Given the description of an element on the screen output the (x, y) to click on. 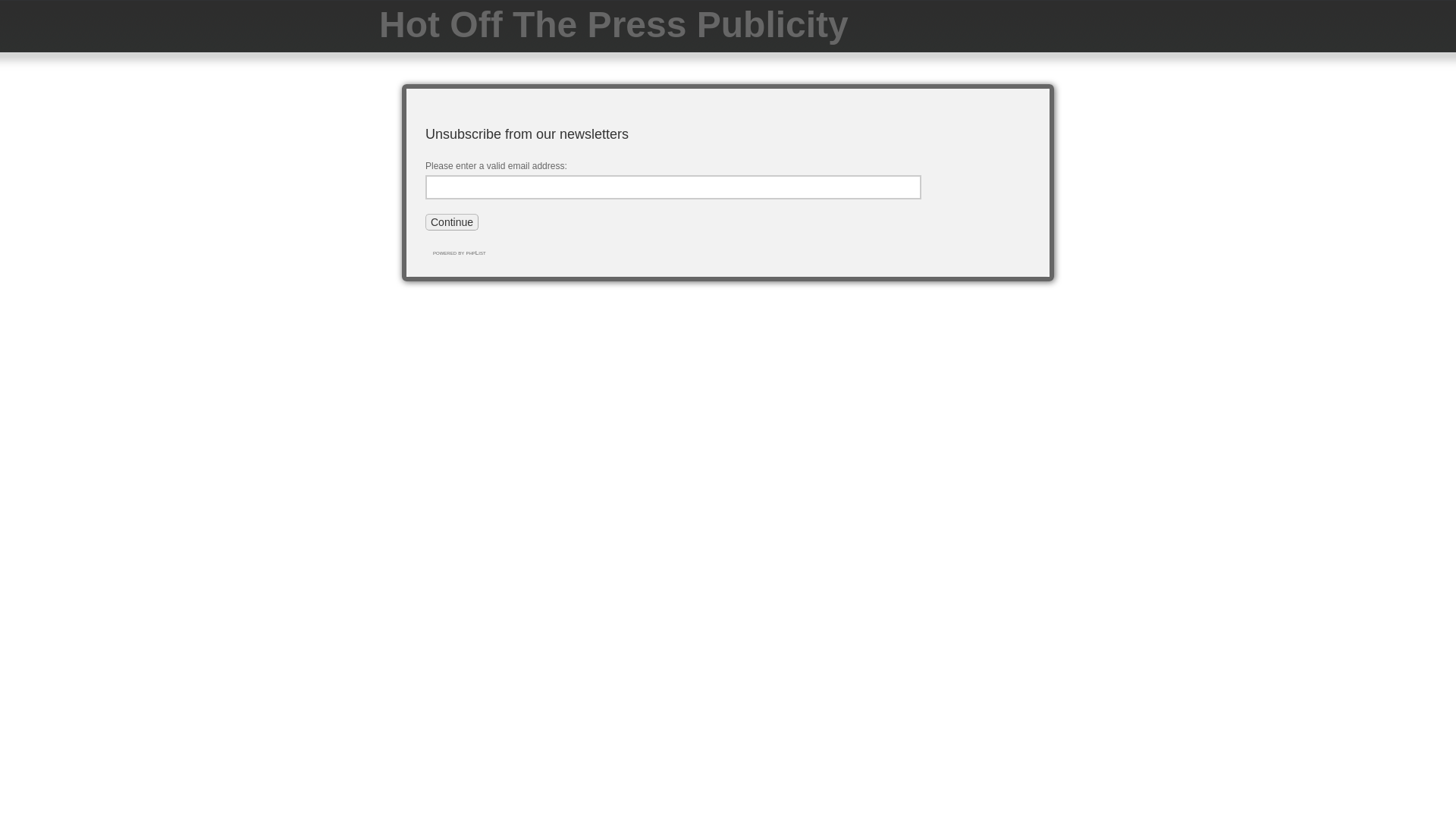
phpList Element type: text (475, 252)
Continue Element type: text (451, 221)
Hot Off The Press Publicity Element type: text (613, 24)
